Given the description of an element on the screen output the (x, y) to click on. 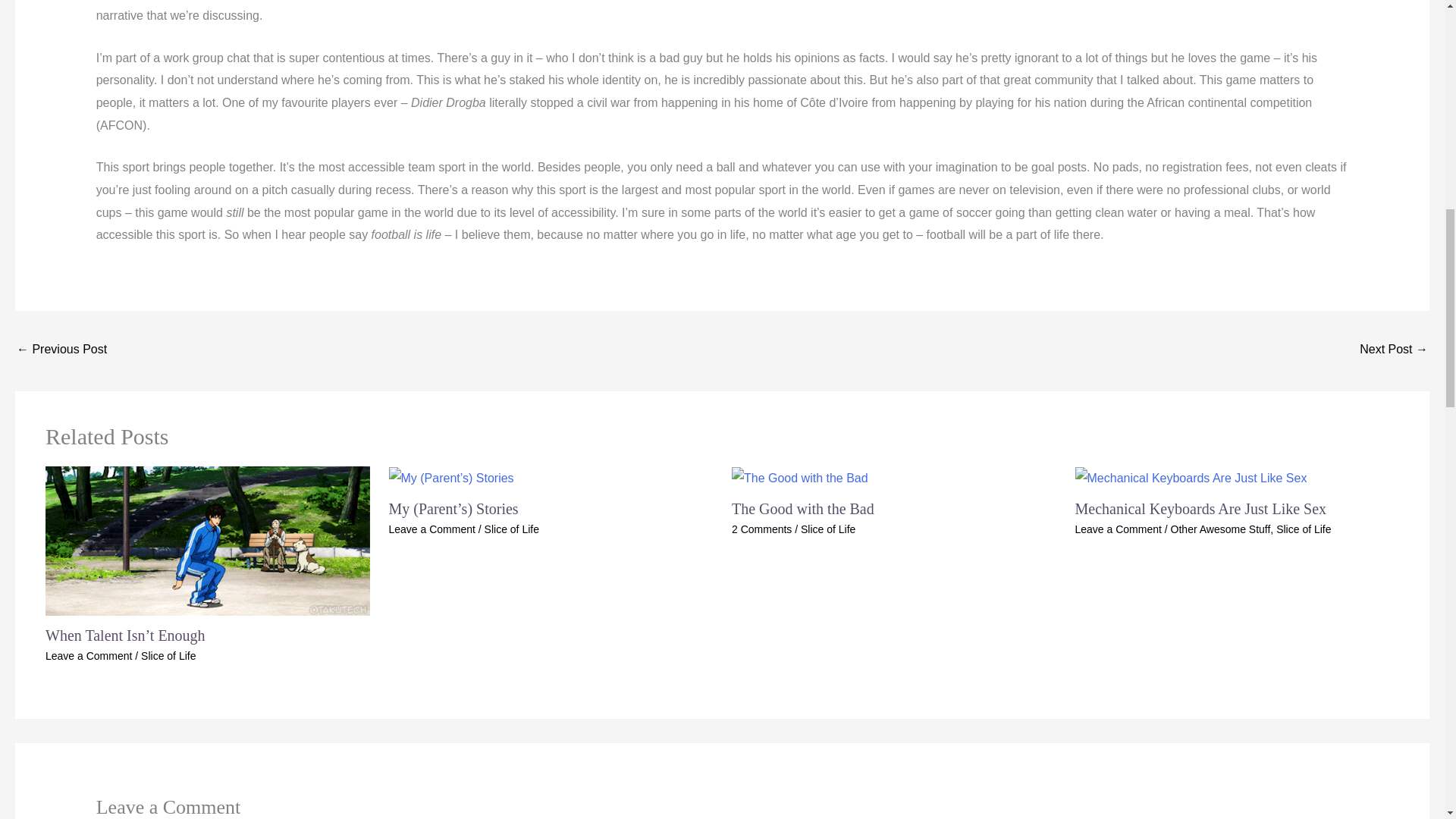
Slice of Life (168, 655)
Slice of Life (511, 529)
2 Comments (762, 529)
The movie-like romance of my life part 3 (61, 350)
Leave a Comment (431, 529)
Leave a Comment (88, 655)
Stop calling me Daddy (1393, 350)
The Good with the Bad (803, 508)
